Given the description of an element on the screen output the (x, y) to click on. 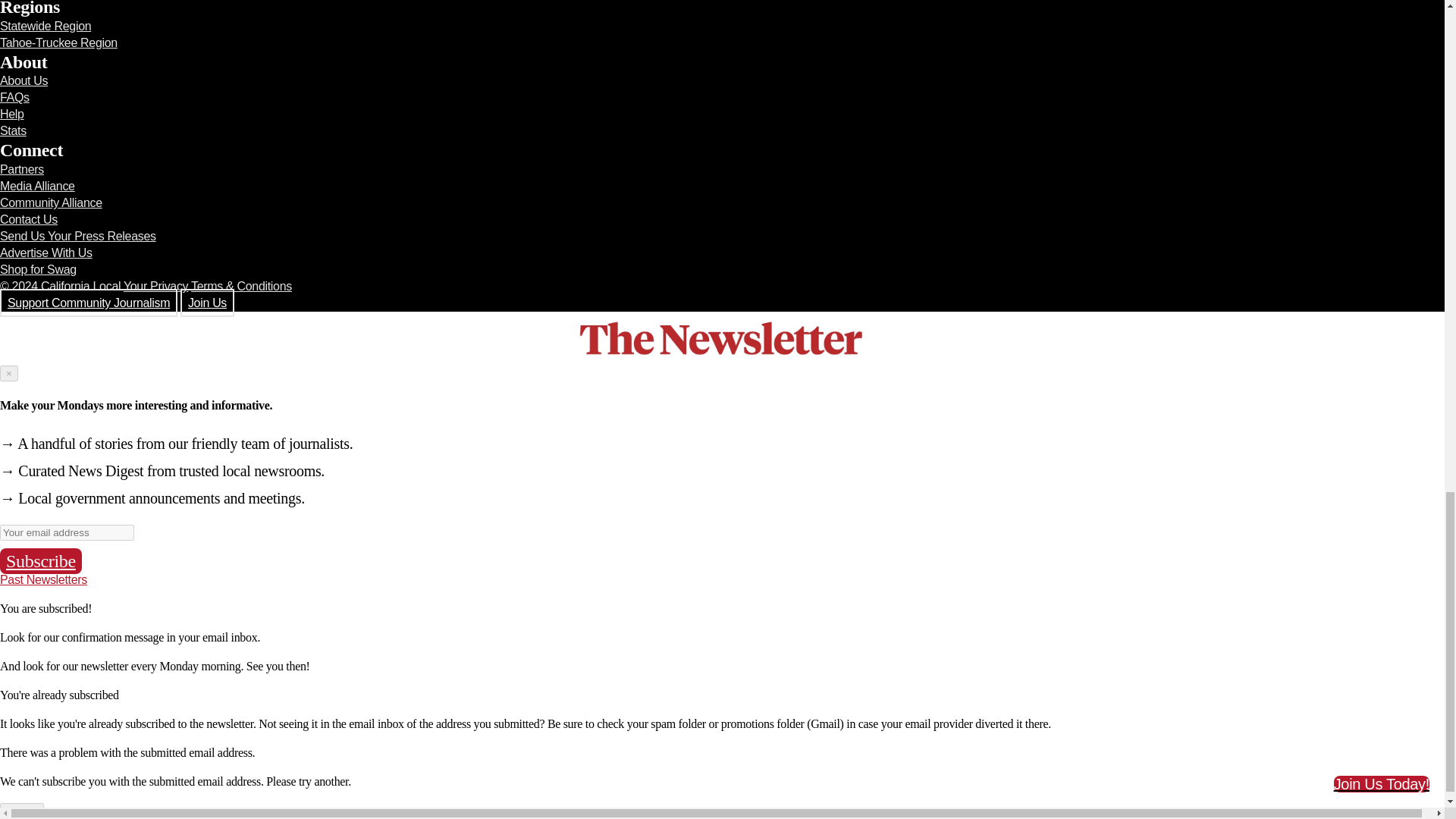
The Newsletter (722, 338)
